Given the description of an element on the screen output the (x, y) to click on. 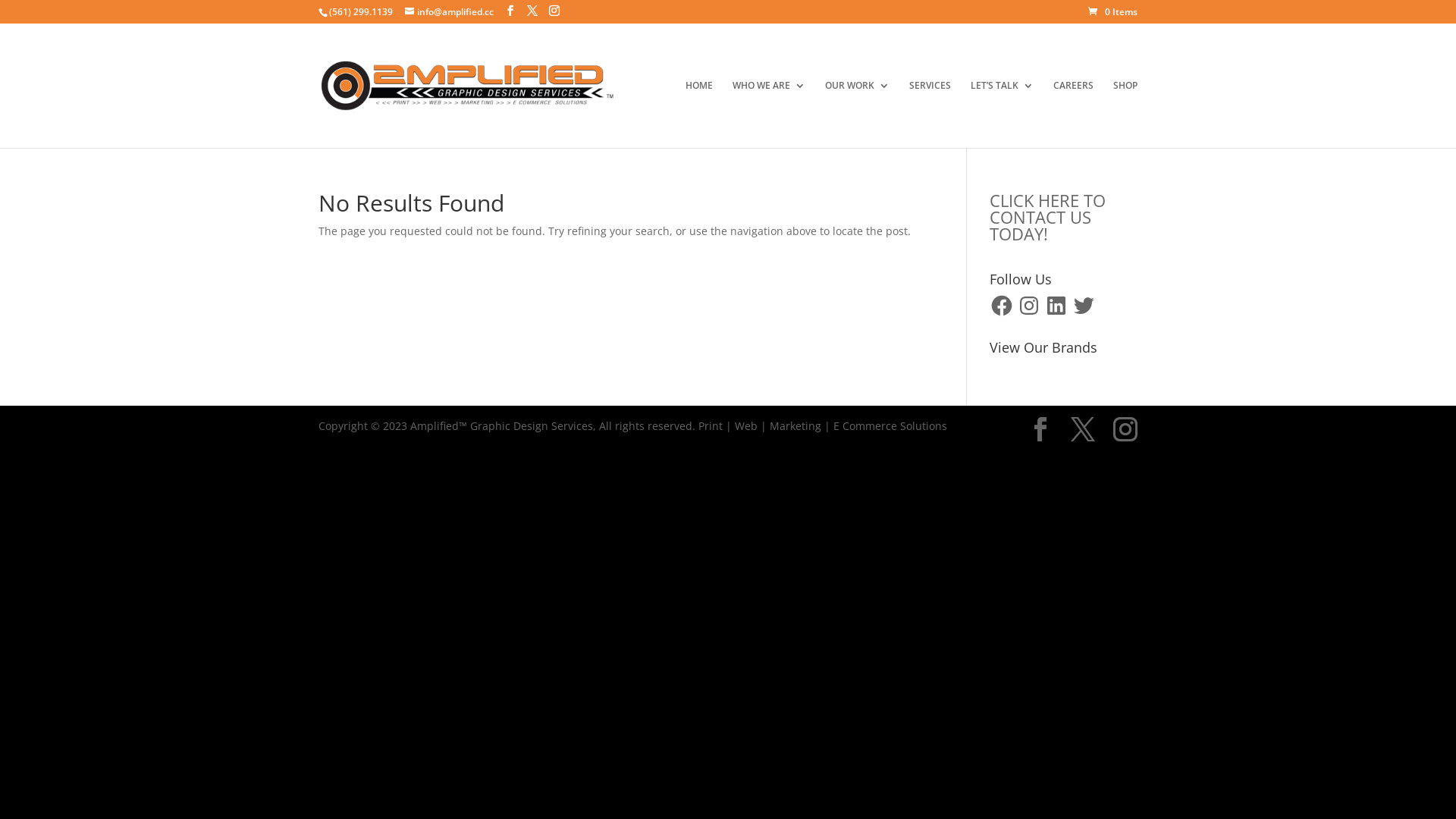
SERVICES Element type: text (929, 113)
SHOP Element type: text (1125, 113)
CLICK HERE TO
CONTACT US TODAY! Element type: text (1047, 216)
OUR WORK Element type: text (857, 113)
Twitter Element type: text (1083, 305)
CAREERS Element type: text (1073, 113)
0 Items Element type: text (1112, 11)
LinkedIn Element type: text (1056, 305)
info@amplified.cc Element type: text (448, 11)
Instagram Element type: text (1028, 305)
Facebook Element type: text (1001, 305)
HOME Element type: text (698, 113)
WHO WE ARE Element type: text (768, 113)
